Given the description of an element on the screen output the (x, y) to click on. 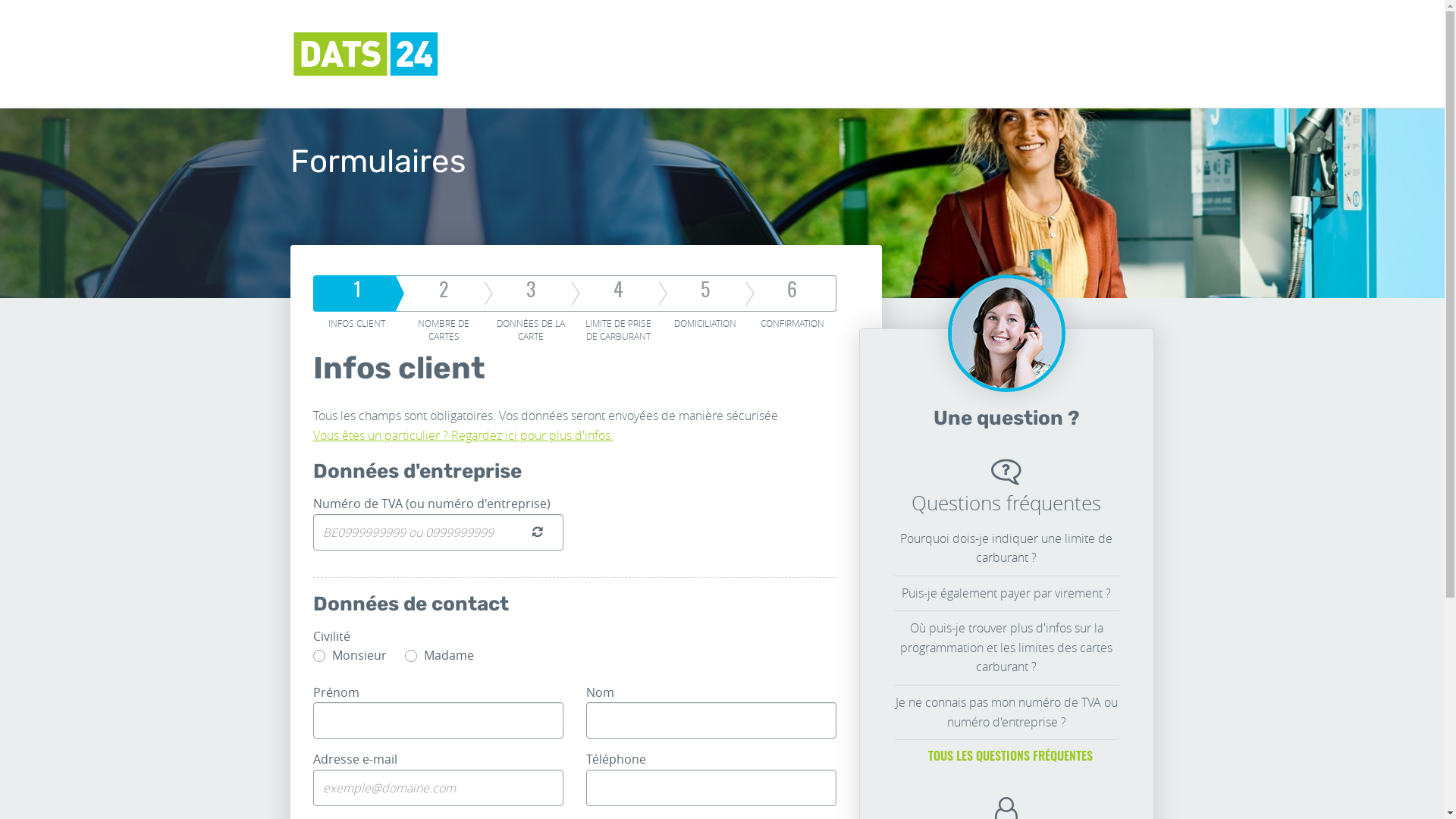
DATS 24 Element type: text (364, 53)
